Given the description of an element on the screen output the (x, y) to click on. 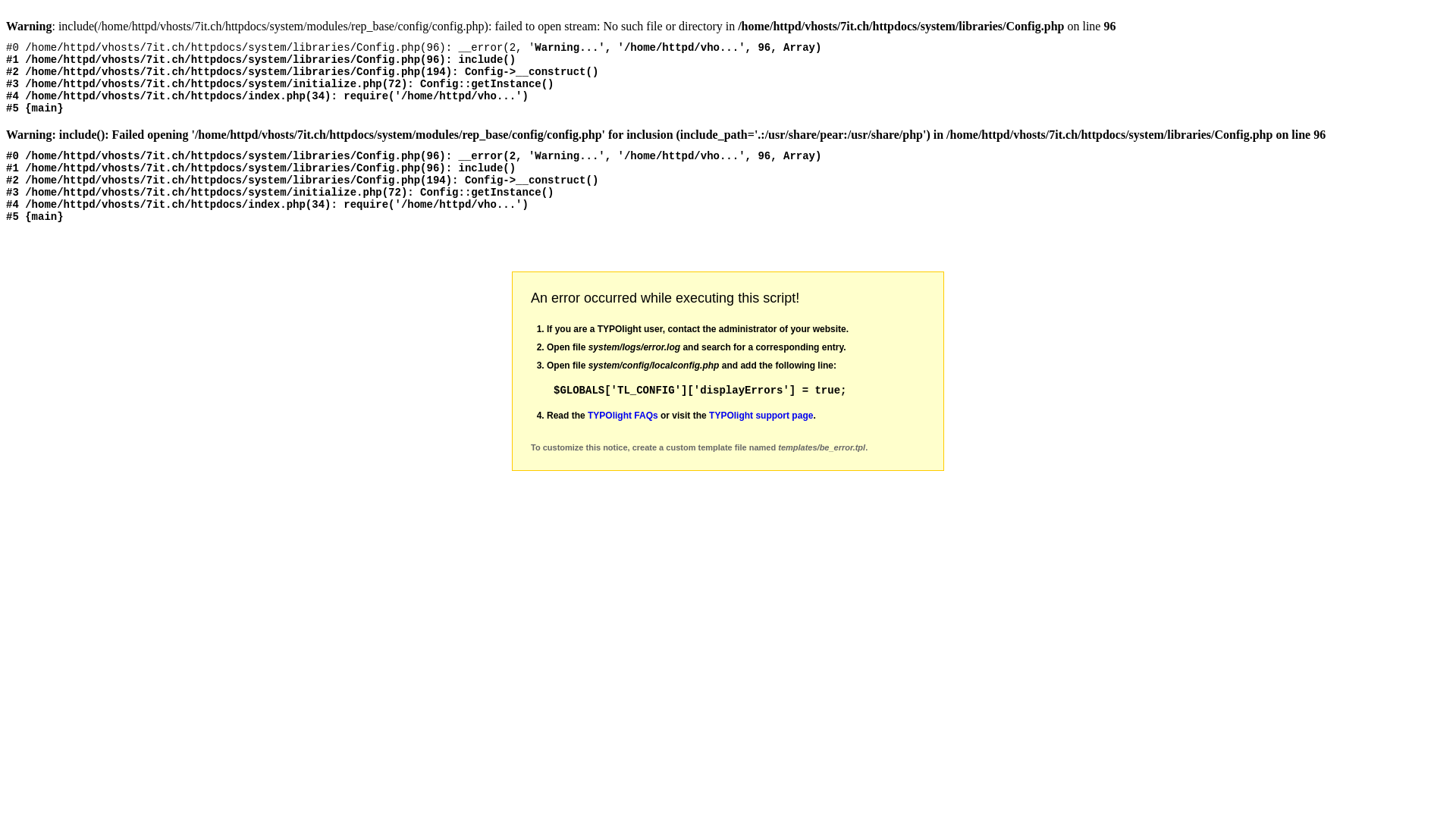
TYPOlight FAQs Element type: text (622, 415)
TYPOlight support page Element type: text (760, 415)
